Given the description of an element on the screen output the (x, y) to click on. 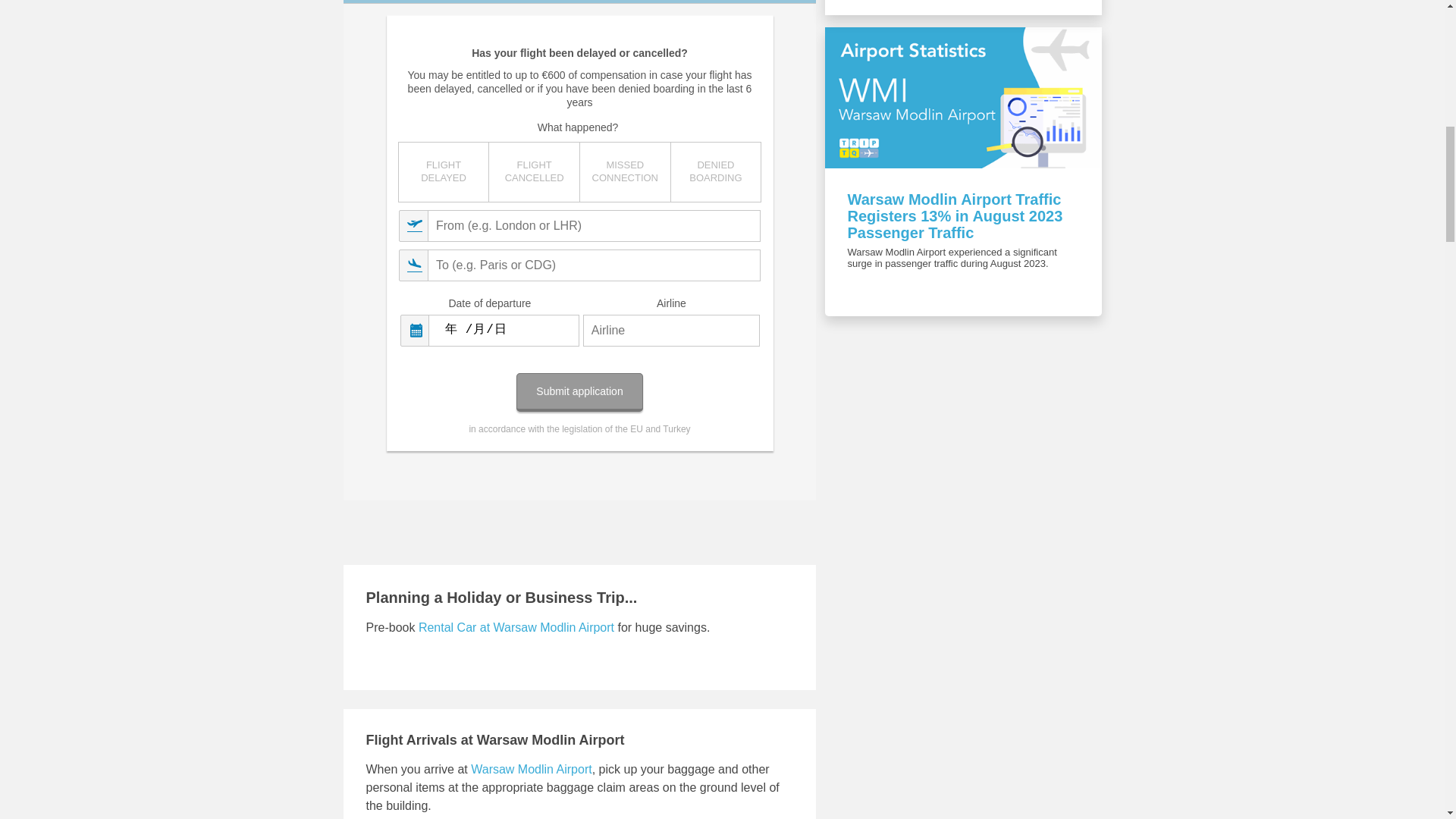
warsawmodlinairport.com (530, 768)
